Given the description of an element on the screen output the (x, y) to click on. 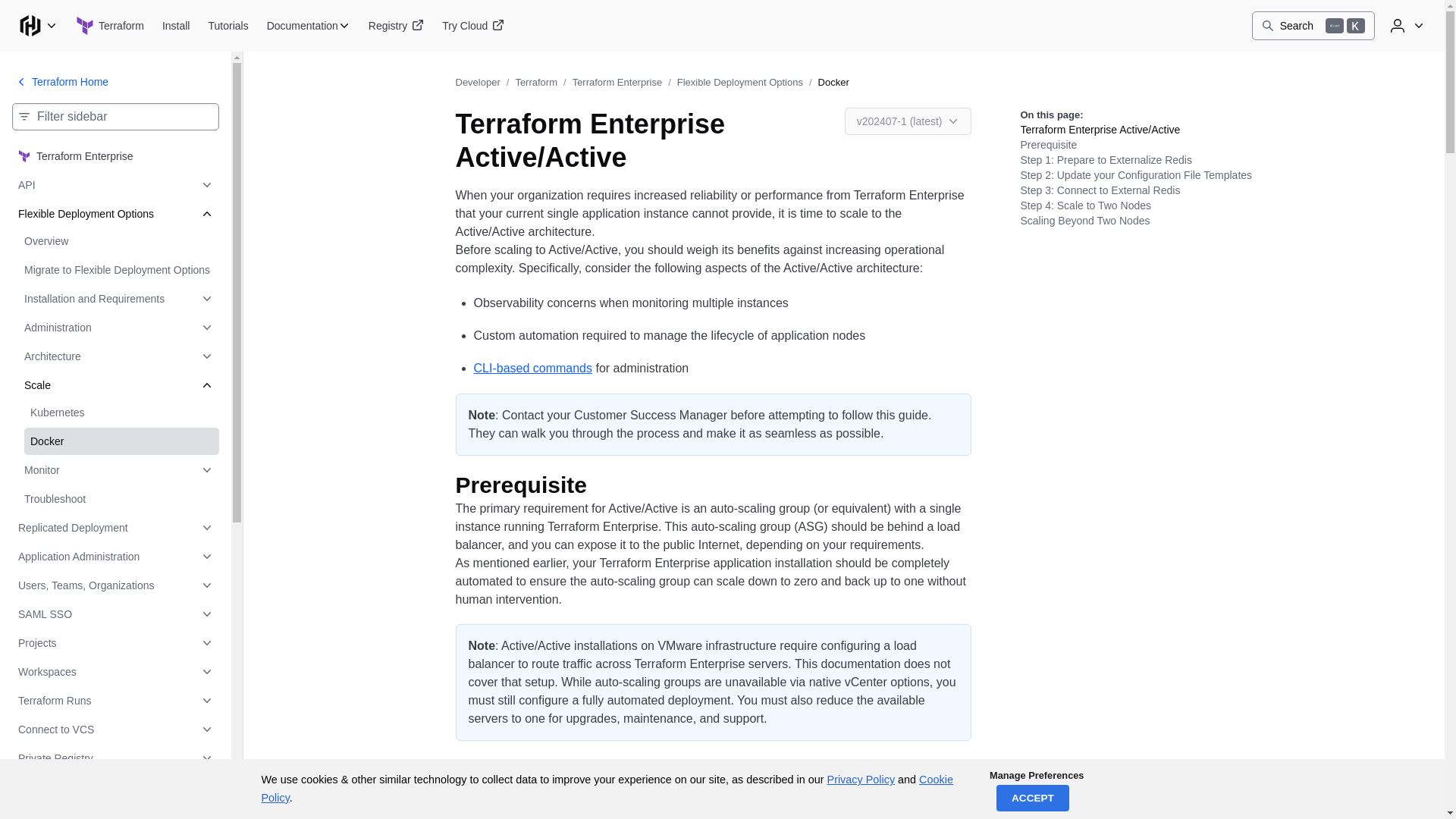
Try Cloud (472, 25)
Install (175, 25)
Step 1: Prepare to Externalize Redis (661, 805)
Prerequisite (532, 484)
Terraform Enterprise (115, 155)
Tutorials (227, 25)
Terraform Home (60, 81)
Terraform (109, 25)
Documentation (1313, 25)
